Given the description of an element on the screen output the (x, y) to click on. 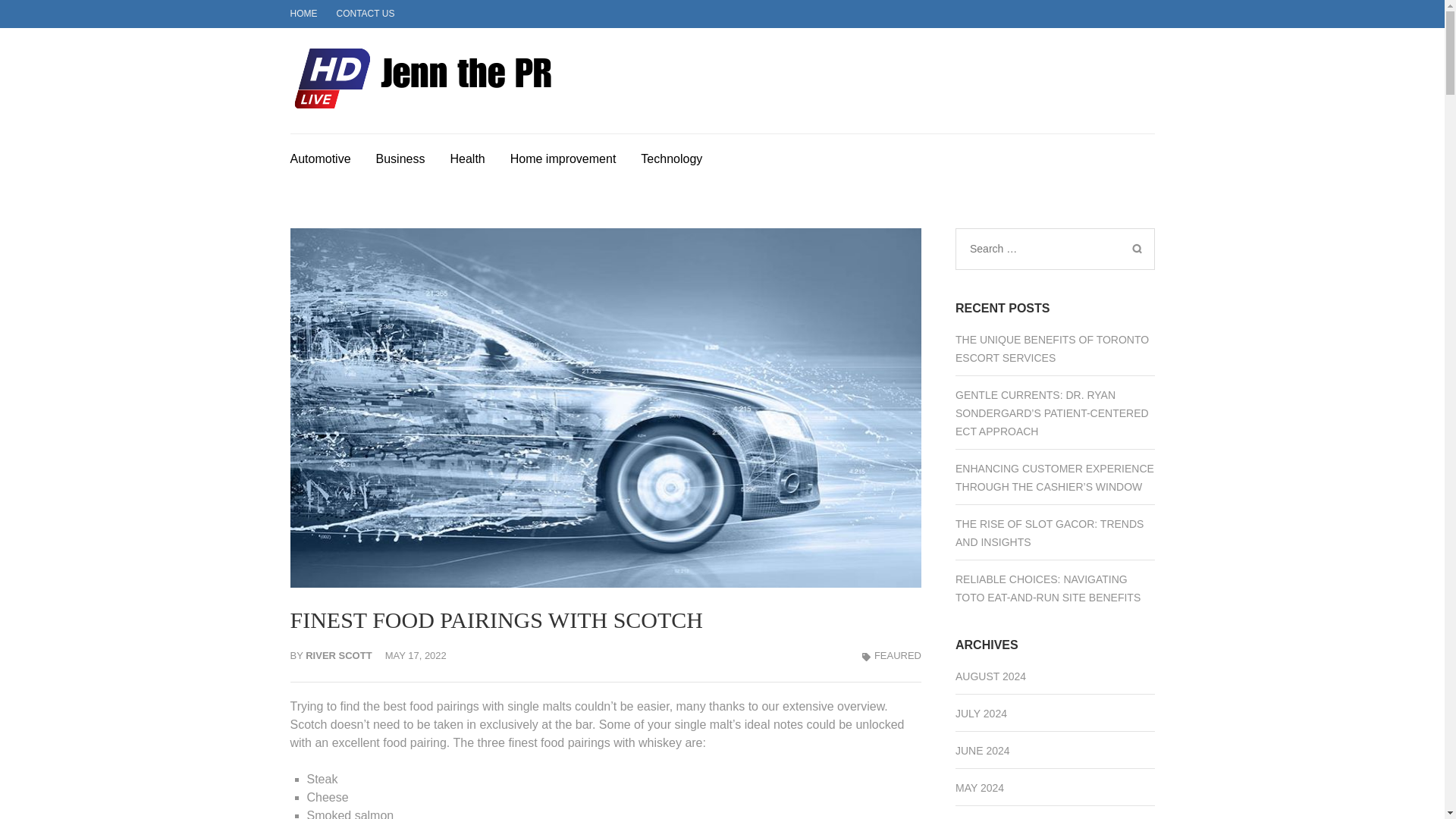
JULY 2024 (981, 713)
Automotive (319, 156)
JENN THE PR (664, 96)
THE UNIQUE BENEFITS OF TORONTO ESCORT SERVICES (1051, 348)
Search (1136, 248)
RELIABLE CHOICES: NAVIGATING TOTO EAT-AND-RUN SITE BENEFITS (1047, 588)
HOME (303, 13)
Search (1136, 248)
Search (1136, 248)
Technology (670, 156)
